Given the description of an element on the screen output the (x, y) to click on. 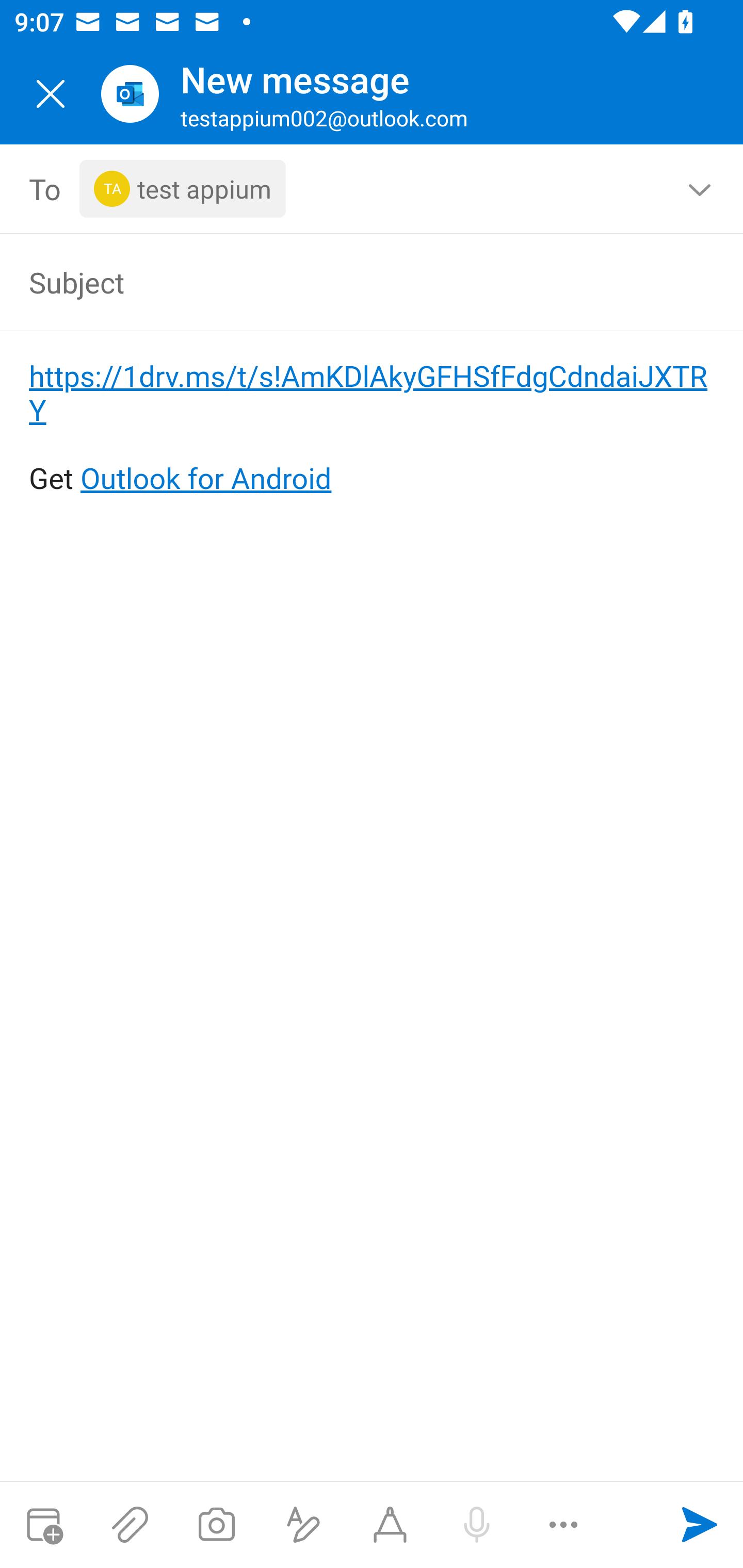
Close (50, 93)
Subject (342, 281)
Attach meeting (43, 1524)
Attach files (129, 1524)
Take a photo (216, 1524)
Show formatting options (303, 1524)
Start Ink compose (389, 1524)
More options (563, 1524)
Send (699, 1524)
